Given the description of an element on the screen output the (x, y) to click on. 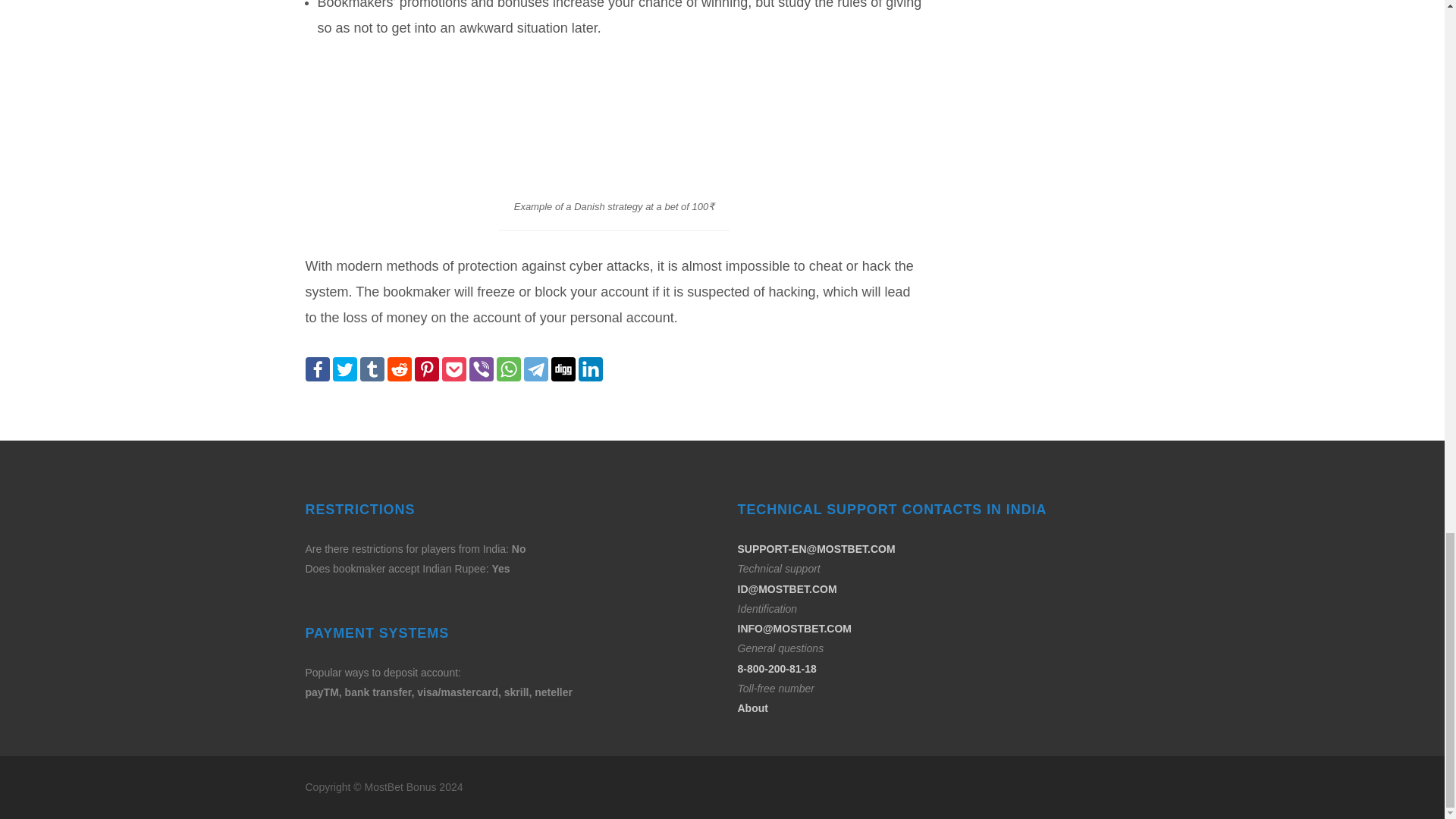
Twitter (343, 369)
Pinterest (425, 369)
Tumblr (371, 369)
Pocket (453, 369)
MostBet Bonus (402, 787)
Telegram (534, 369)
LinkedIn (590, 369)
About (751, 707)
Digg (562, 369)
Facebook (316, 369)
Viber (480, 369)
WhatsApp (507, 369)
8-800-200-81-18 (775, 668)
reddit (398, 369)
